Given the description of an element on the screen output the (x, y) to click on. 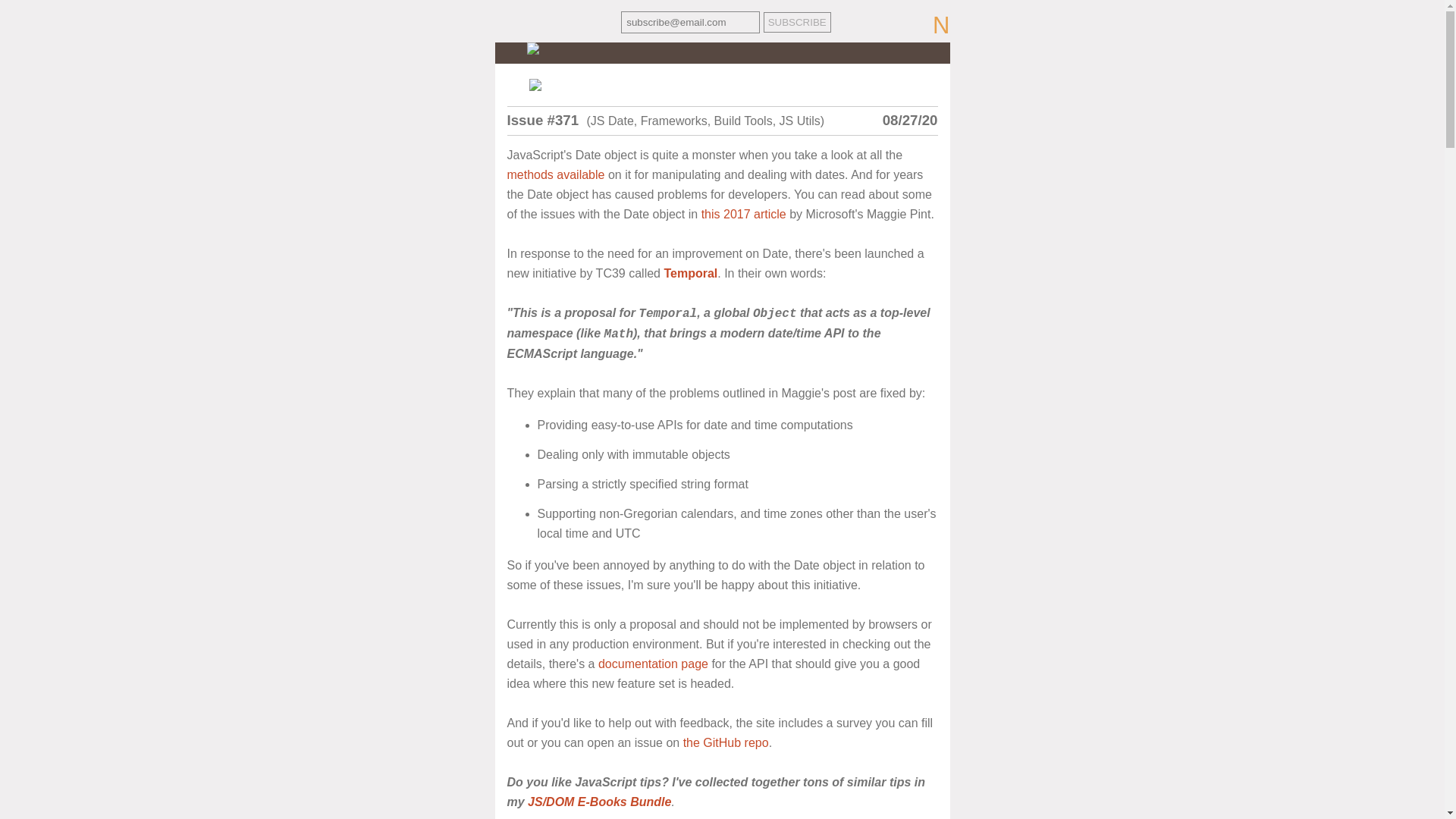
documentation page (652, 663)
methods available (555, 174)
this 2017 article (743, 214)
Temporal (690, 273)
What a Tool! (722, 84)
the GitHub repo (725, 742)
SUBSCRIBE (796, 22)
SUBSCRIBE (796, 22)
